Given the description of an element on the screen output the (x, y) to click on. 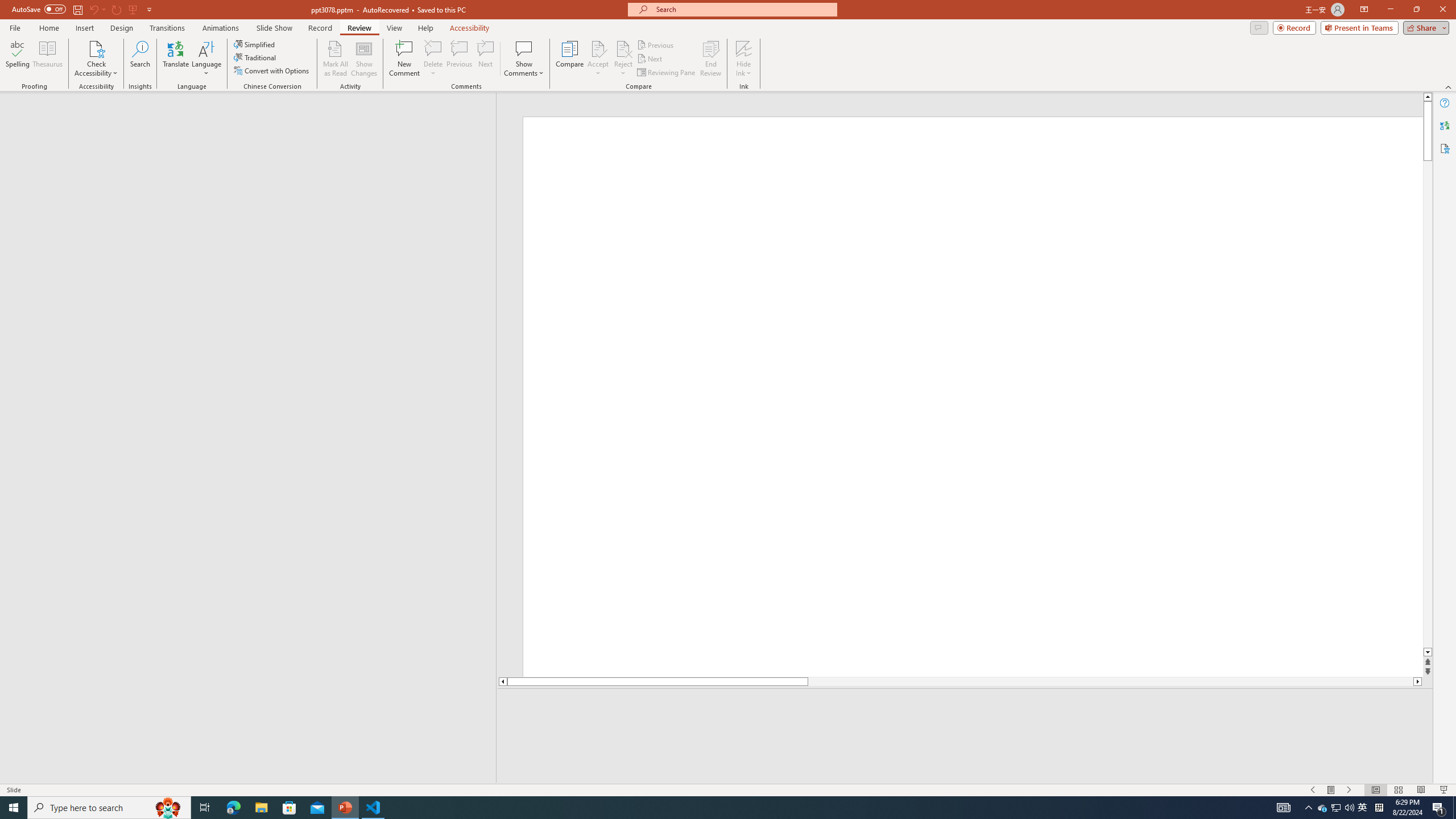
Slide Show Previous On (1313, 790)
Delete (432, 48)
Translate (175, 58)
Reject (622, 58)
End Review (710, 58)
Previous (655, 44)
Next (649, 58)
Delete (432, 58)
Reject Change (622, 48)
Spelling... (17, 58)
